Given the description of an element on the screen output the (x, y) to click on. 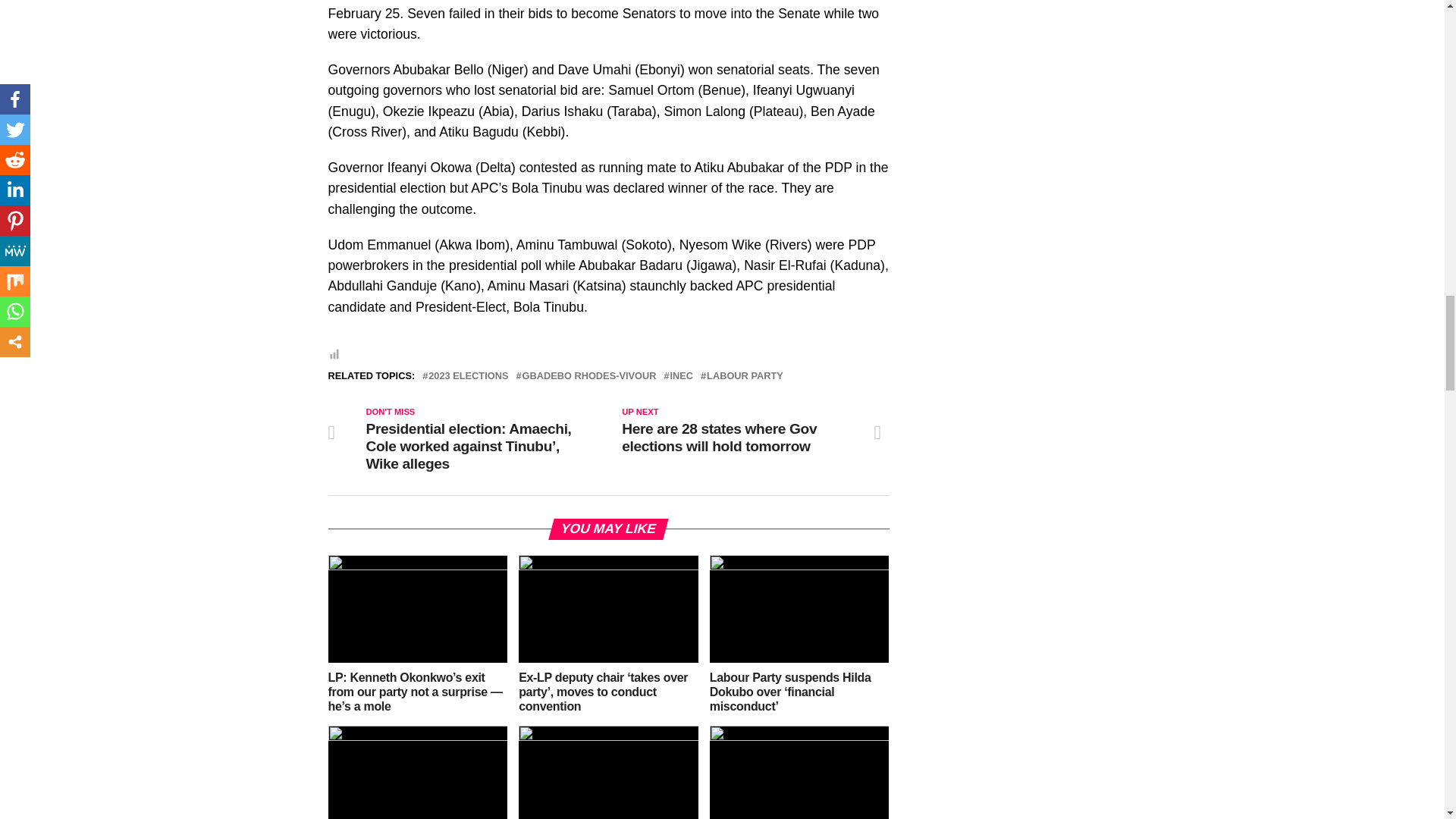
GBADEBO RHODES-VIVOUR (588, 376)
2023 ELECTIONS (468, 376)
